Given the description of an element on the screen output the (x, y) to click on. 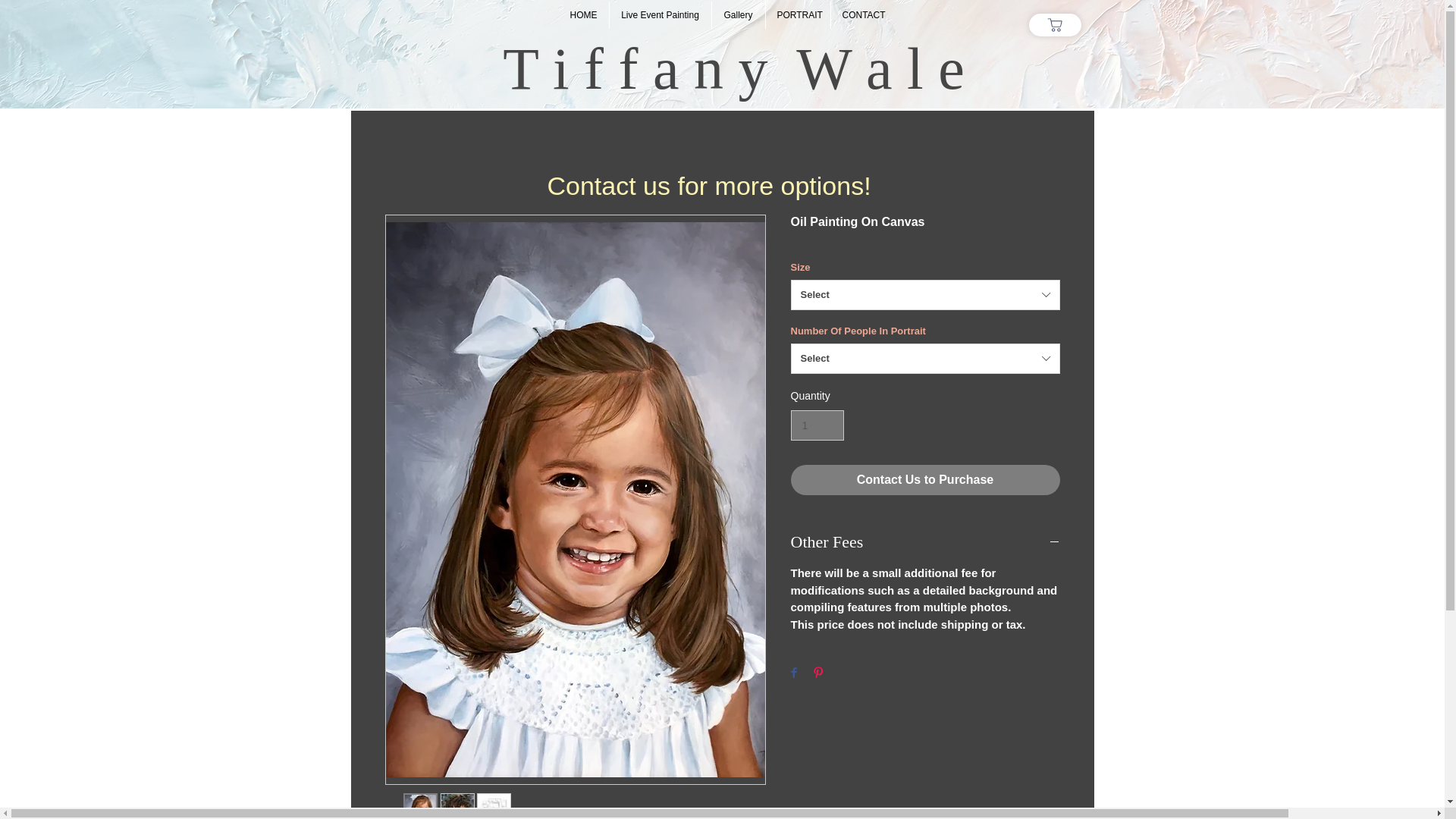
Select (924, 295)
Gallery (737, 14)
Live Event Painting (660, 14)
1 (817, 425)
PORTRAIT (797, 14)
Other Fees (924, 541)
CONTACT (863, 14)
Select (924, 358)
HOME (582, 14)
Contact Us to Purchase (924, 480)
